Given the description of an element on the screen output the (x, y) to click on. 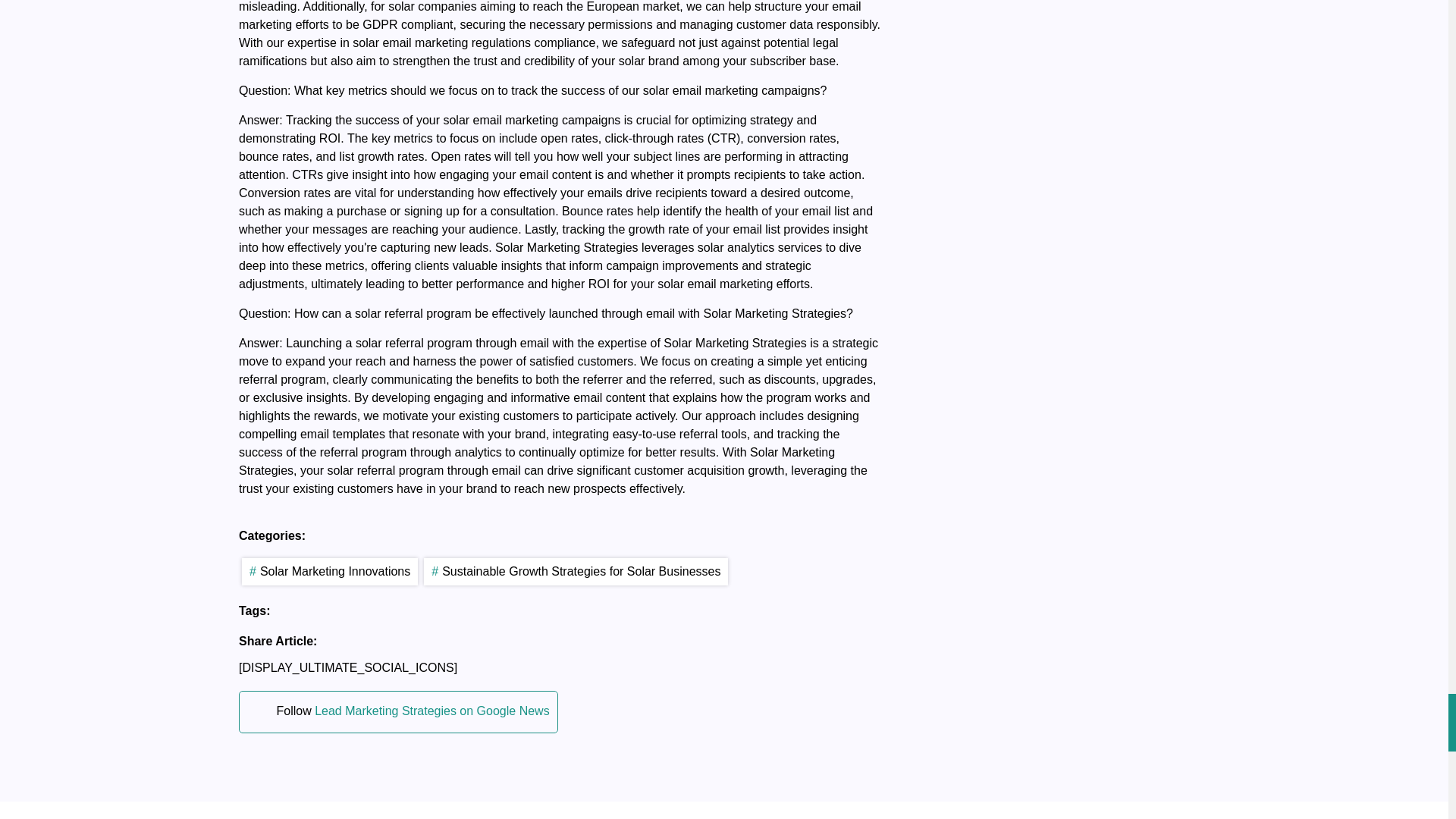
Sustainable Growth Strategies for Solar Businesses (575, 571)
View all posts in Solar Marketing Innovations (329, 571)
Lead Marketing Strategies on Google News (432, 711)
Solar Marketing Innovations (329, 571)
